Given the description of an element on the screen output the (x, y) to click on. 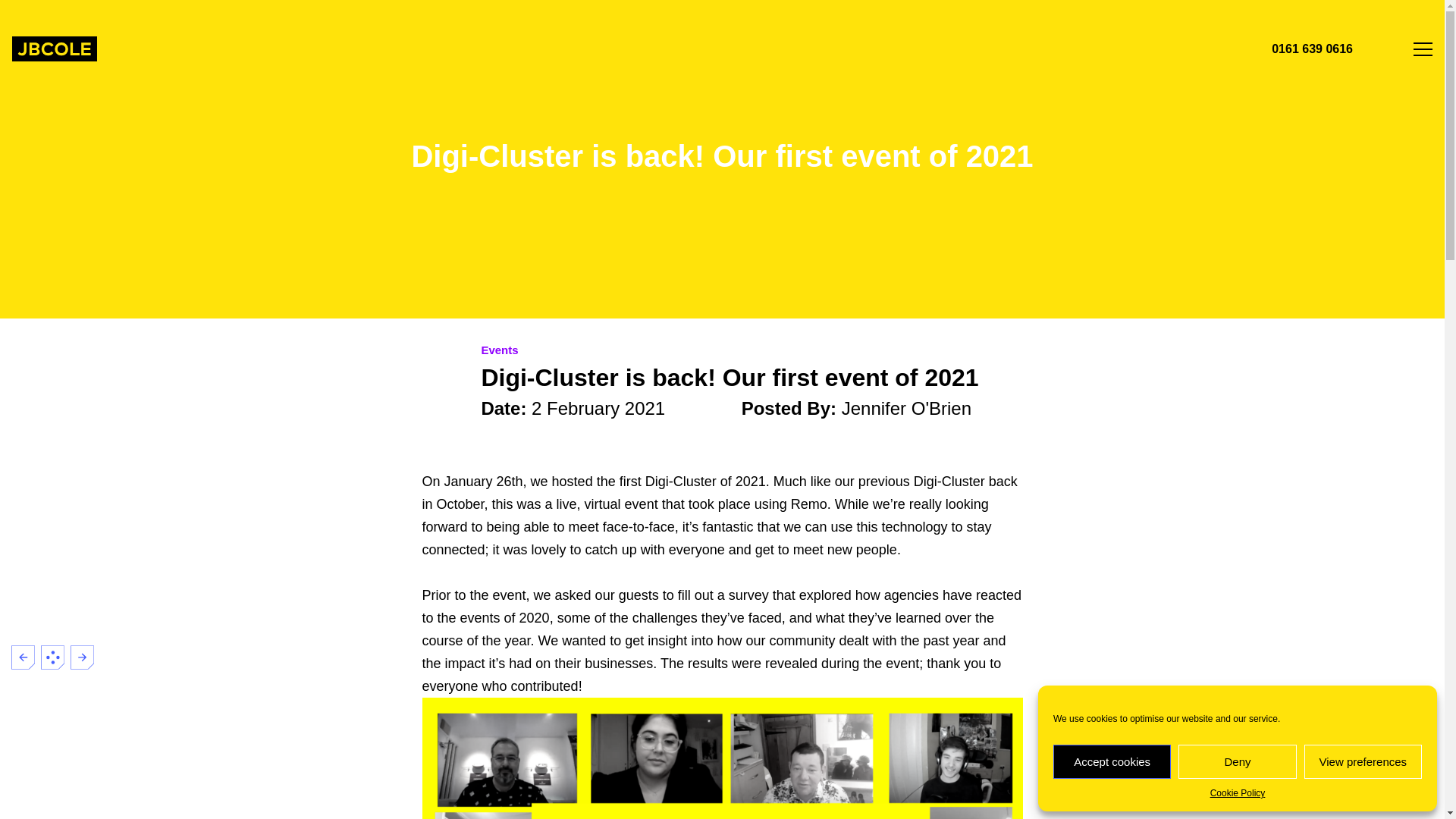
View preferences (1363, 761)
Accept cookies (1111, 761)
Deny (1236, 761)
0161 639 0616 (1308, 49)
Cookie Policy (1237, 793)
